Given the description of an element on the screen output the (x, y) to click on. 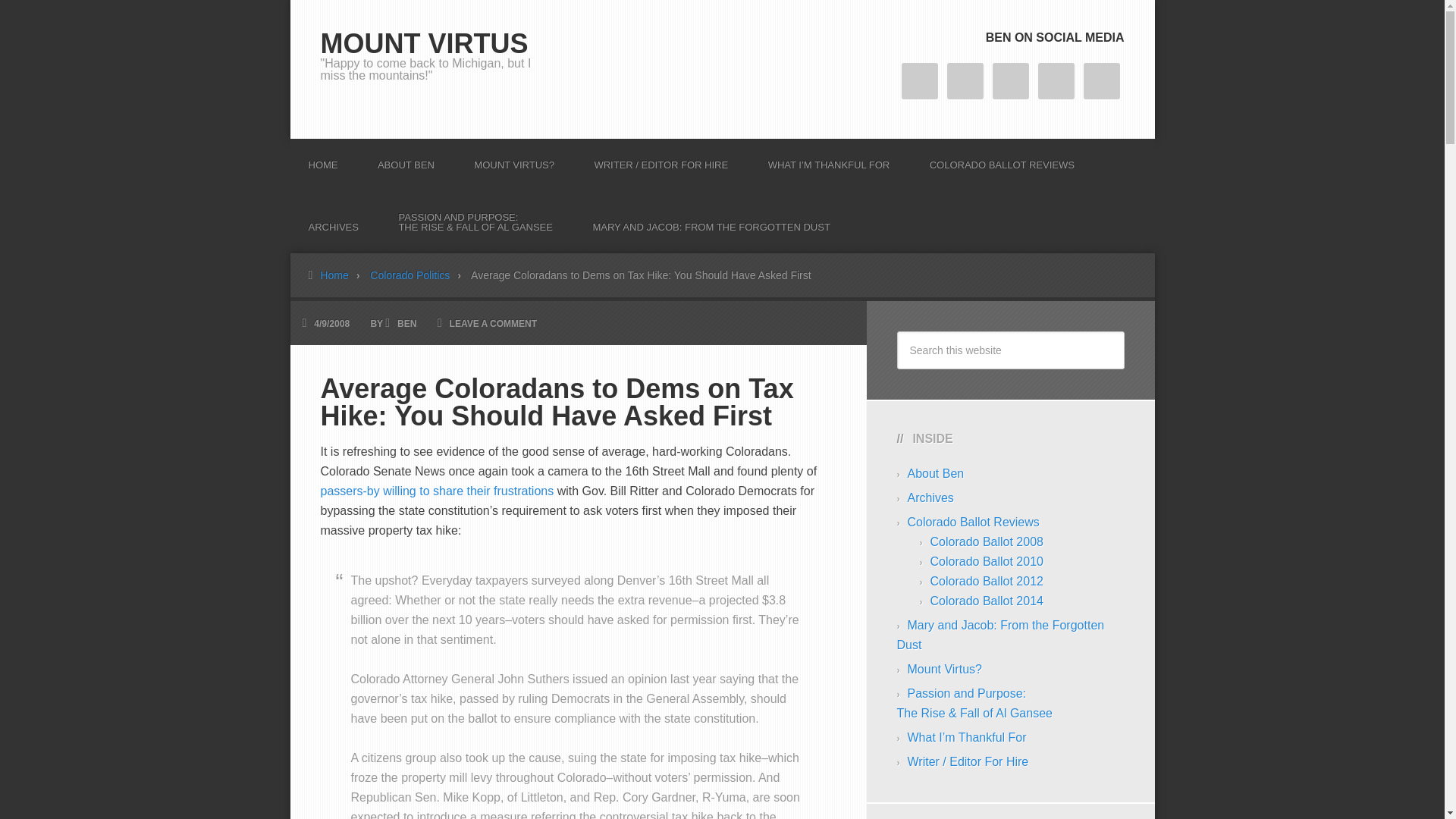
MARY AND JACOB: FROM THE FORGOTTEN DUST (710, 222)
HOME (322, 159)
BEN (406, 323)
COLORADO BALLOT REVIEWS (1002, 159)
Archives (930, 497)
ABOUT BEN (405, 159)
passers-by willing to share their frustrations (436, 490)
Colorado Politics (418, 275)
